Given the description of an element on the screen output the (x, y) to click on. 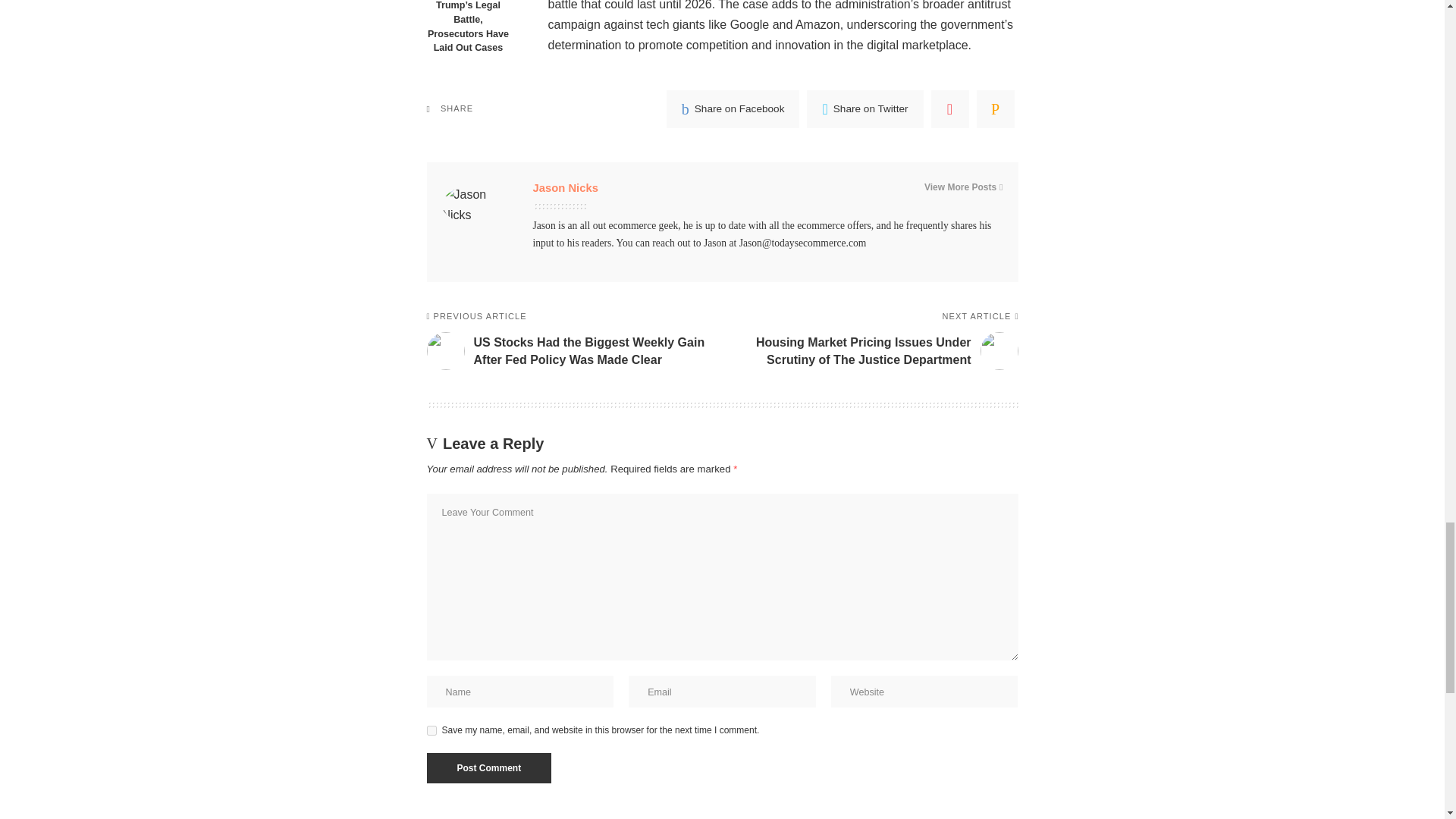
Facebook (732, 108)
Pinterest (950, 108)
Post Comment (488, 767)
yes (430, 730)
Twitter (864, 108)
